Given the description of an element on the screen output the (x, y) to click on. 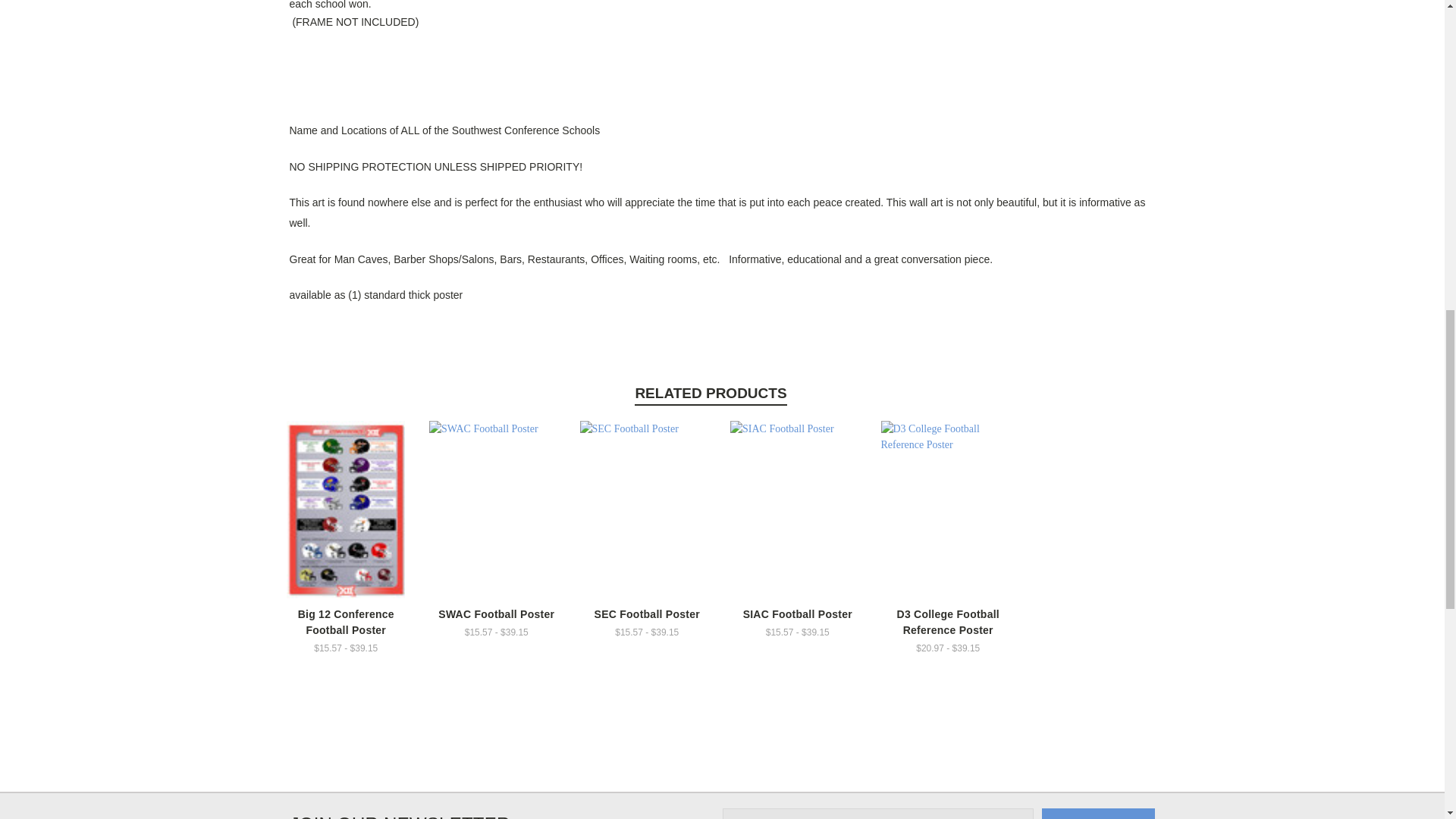
Subscribe (1098, 813)
